Given the description of an element on the screen output the (x, y) to click on. 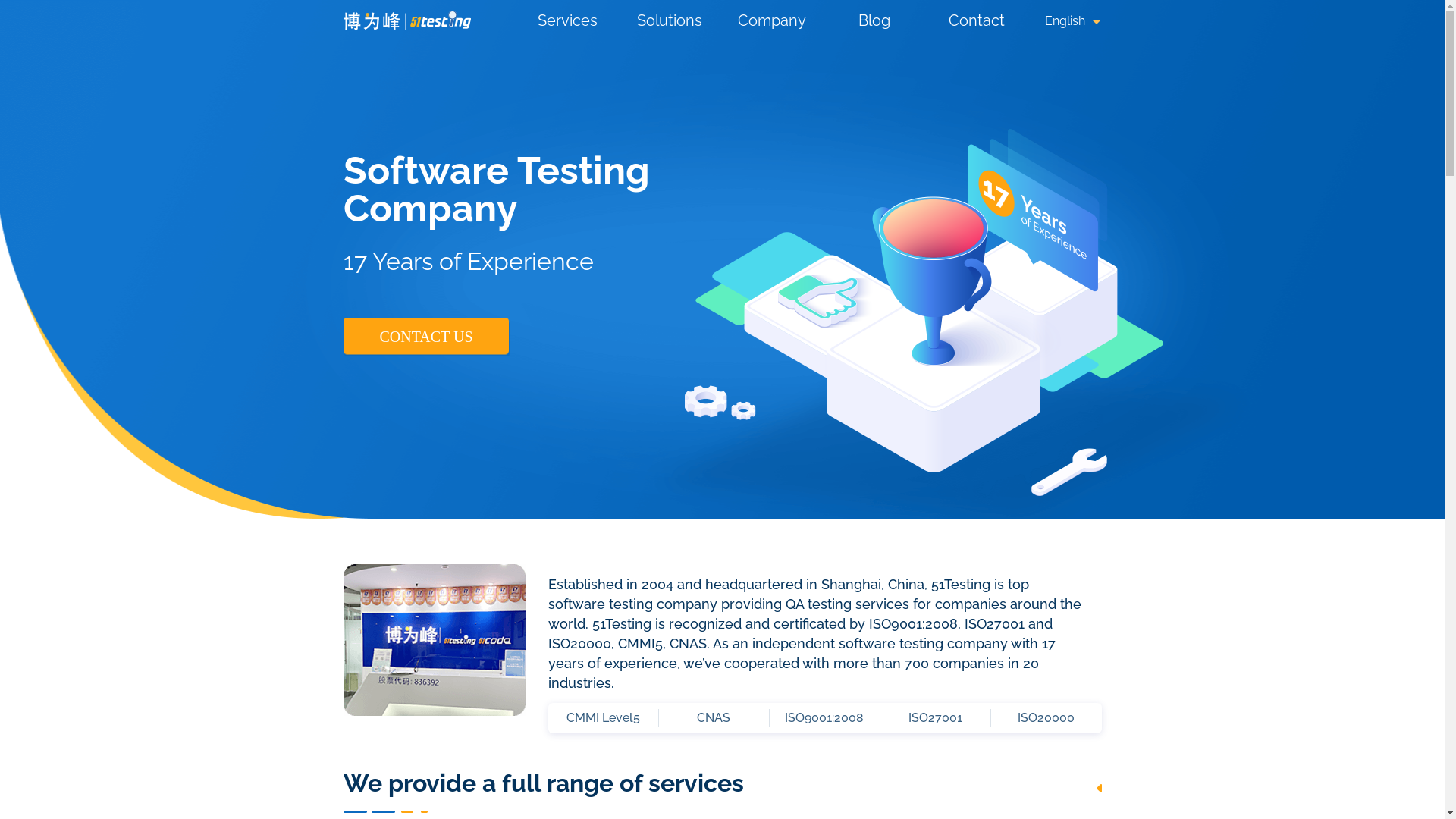
CONTACT US Element type: text (425, 337)
Blog Element type: text (874, 20)
Contact Element type: text (976, 20)
